Given the description of an element on the screen output the (x, y) to click on. 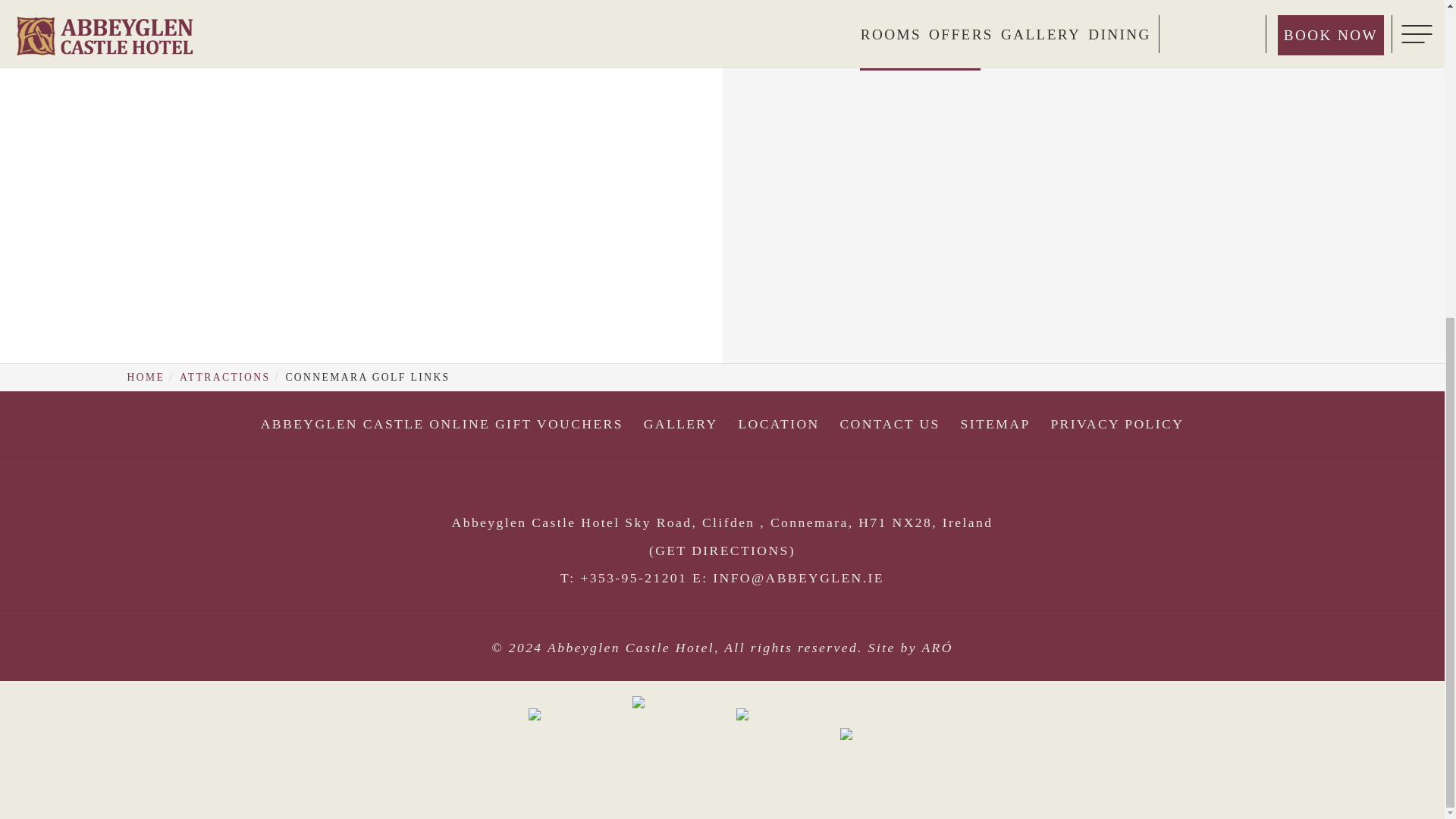
Facebook (675, 491)
Twitter (725, 491)
Instagram (776, 491)
